Given the description of an element on the screen output the (x, y) to click on. 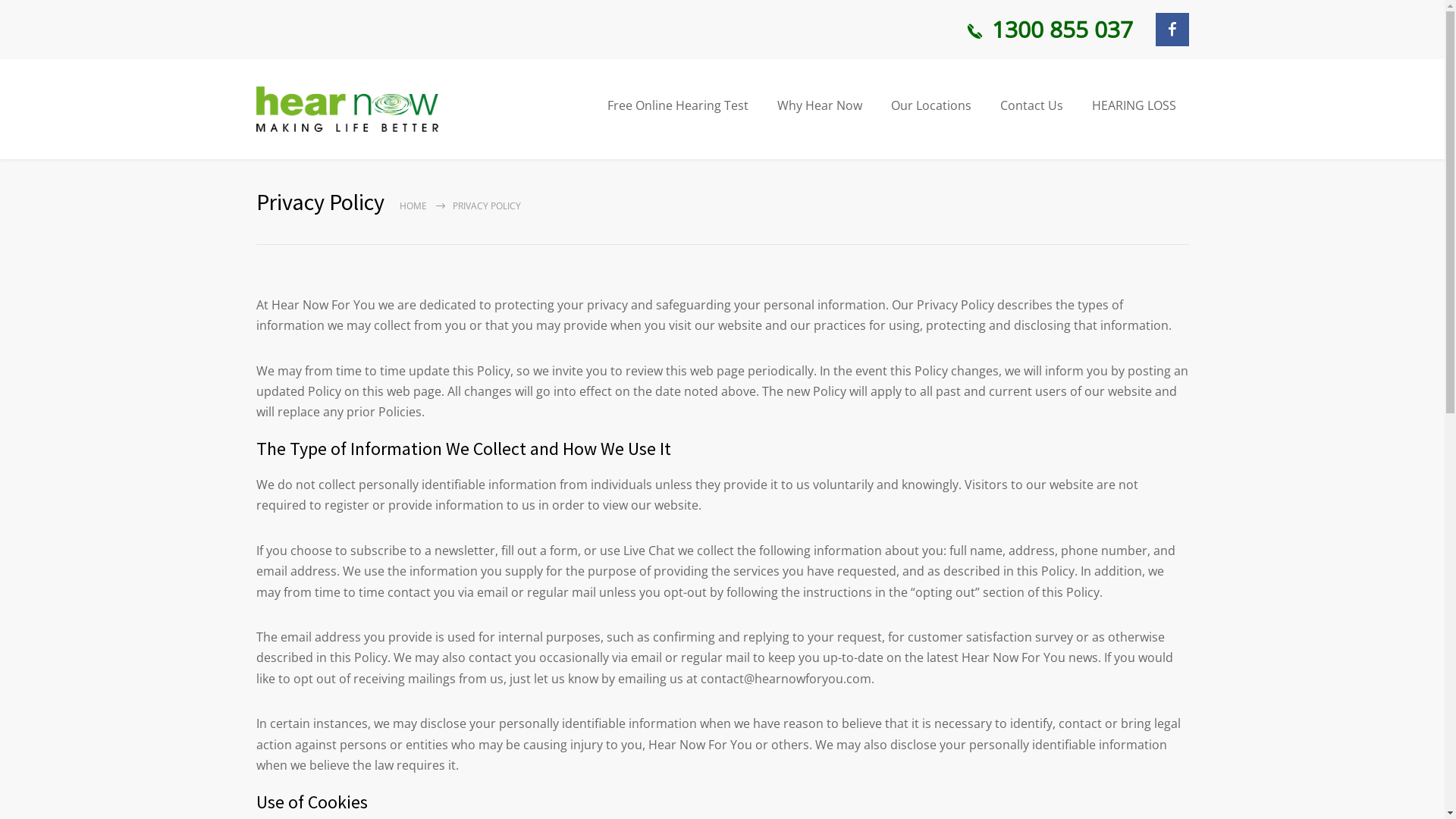
Contact Us Element type: text (1031, 105)
1300 855 037 Element type: text (1048, 29)
HEARING LOSS Element type: text (1134, 105)
Our Locations Element type: text (930, 105)
Why Hear Now Element type: text (819, 105)
HOME Element type: text (412, 205)
Free Online Hearing Test Element type: text (677, 105)
